Given the description of an element on the screen output the (x, y) to click on. 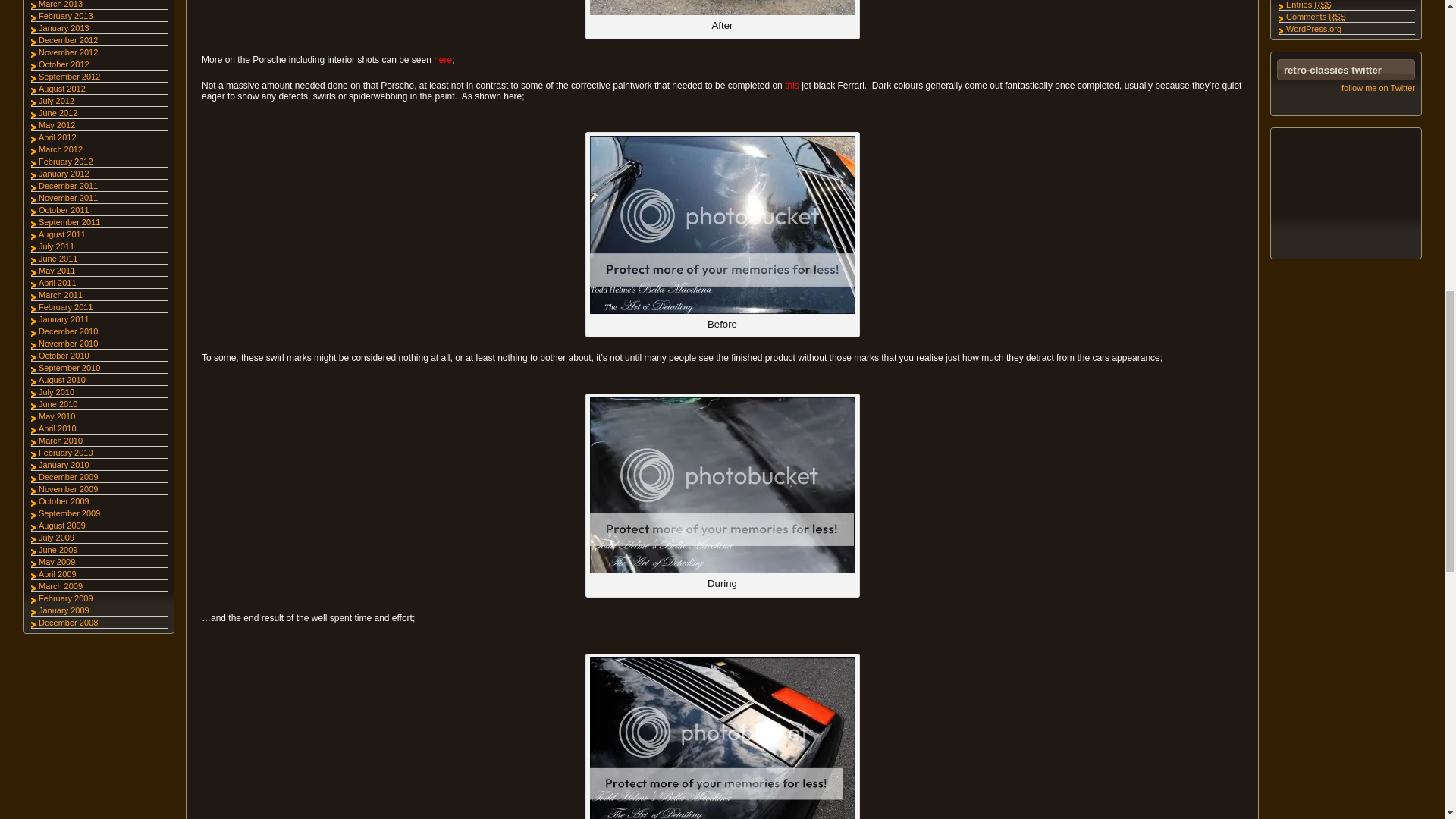
Ferrari (722, 485)
Ferrari (722, 224)
this (791, 85)
Porsche 911T (722, 7)
here (442, 59)
Ferrari (722, 738)
